Given the description of an element on the screen output the (x, y) to click on. 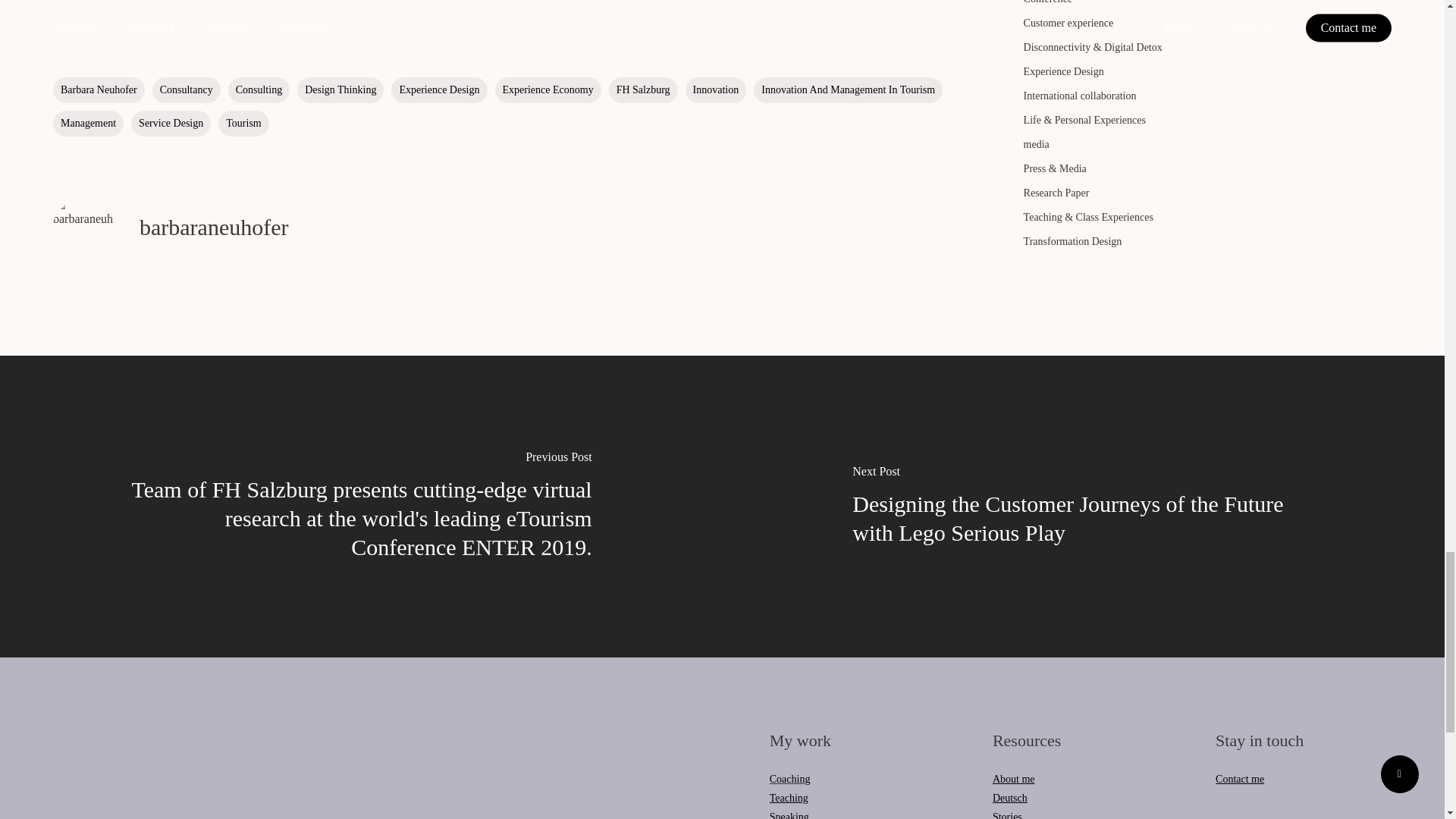
Experience Economy (548, 89)
Experience Design (438, 89)
Consultancy (186, 89)
Service Design (171, 123)
Consulting (258, 89)
Design Thinking (340, 89)
barbaraneuhofer (213, 226)
Tourism (242, 123)
Management (87, 123)
Innovation And Management In Tourism (848, 89)
